Given the description of an element on the screen output the (x, y) to click on. 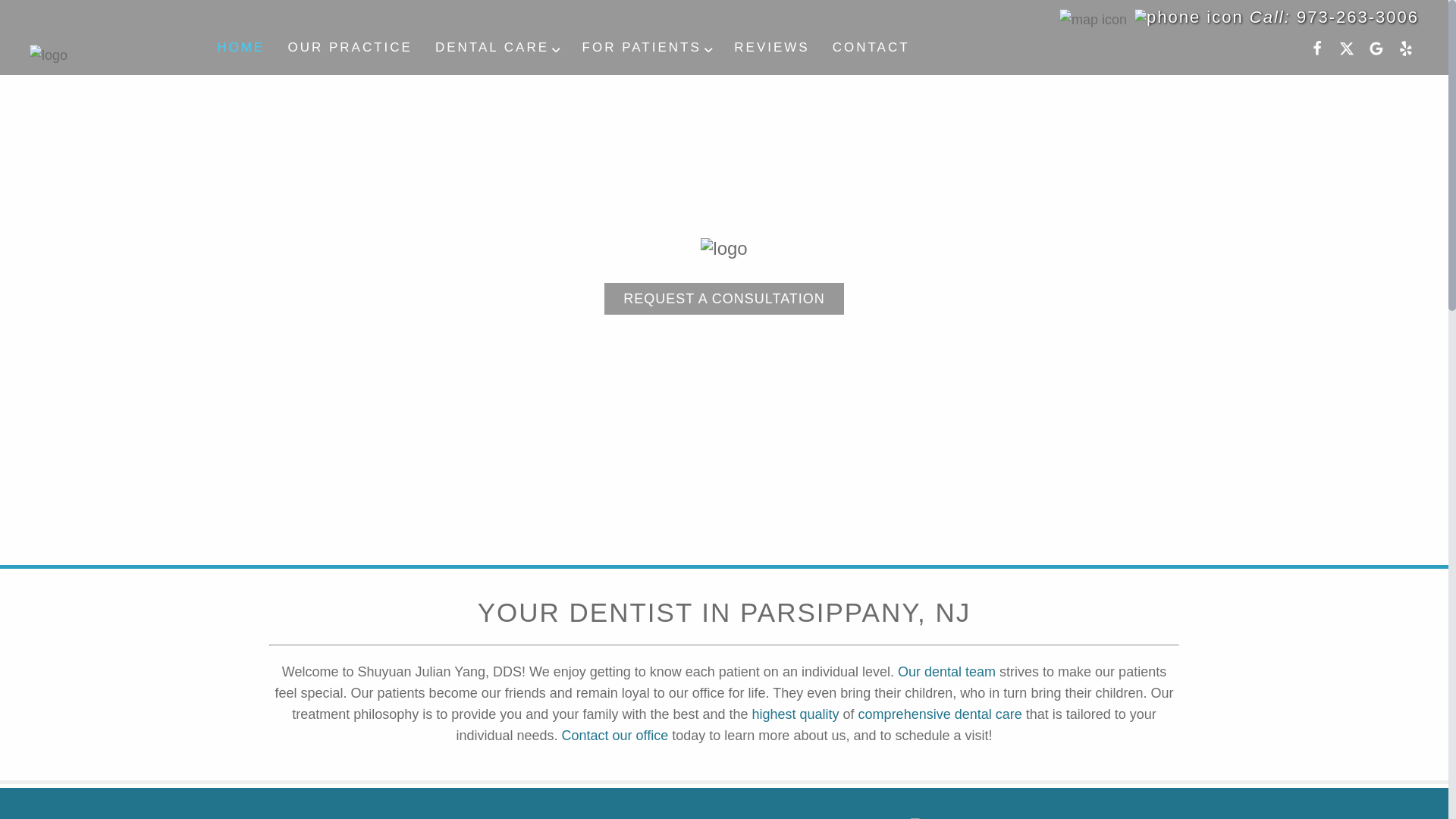
HOME (240, 47)
OUR PRACTICE (349, 47)
DENTAL CARE (496, 47)
